Given the description of an element on the screen output the (x, y) to click on. 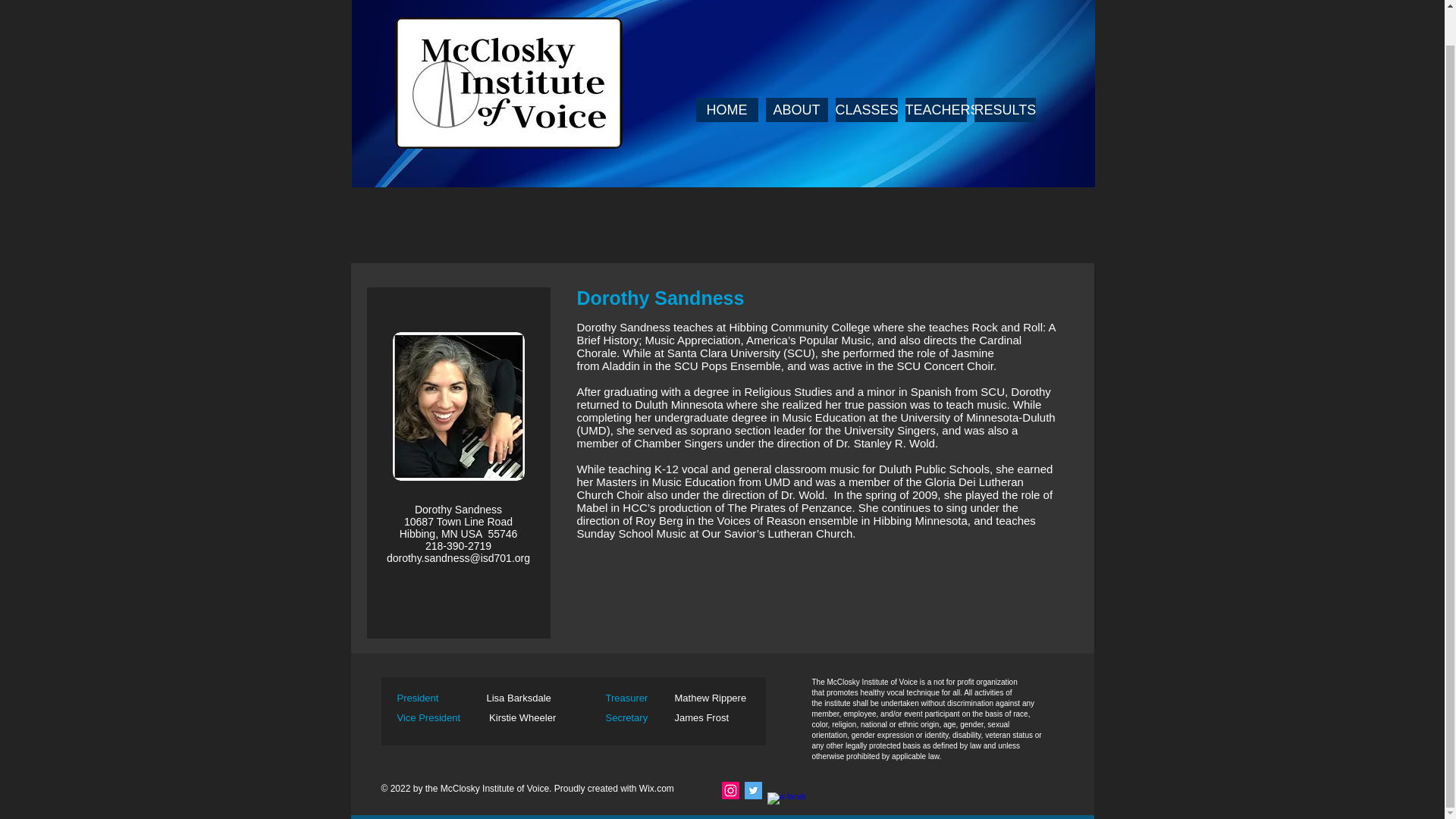
RESULTS (1004, 109)
ABOUT (796, 109)
HOME (726, 109)
TEACHERS (935, 109)
Wix.com (656, 787)
McLogoBandW2.jpg (507, 82)
CLASSES (866, 109)
